Given the description of an element on the screen output the (x, y) to click on. 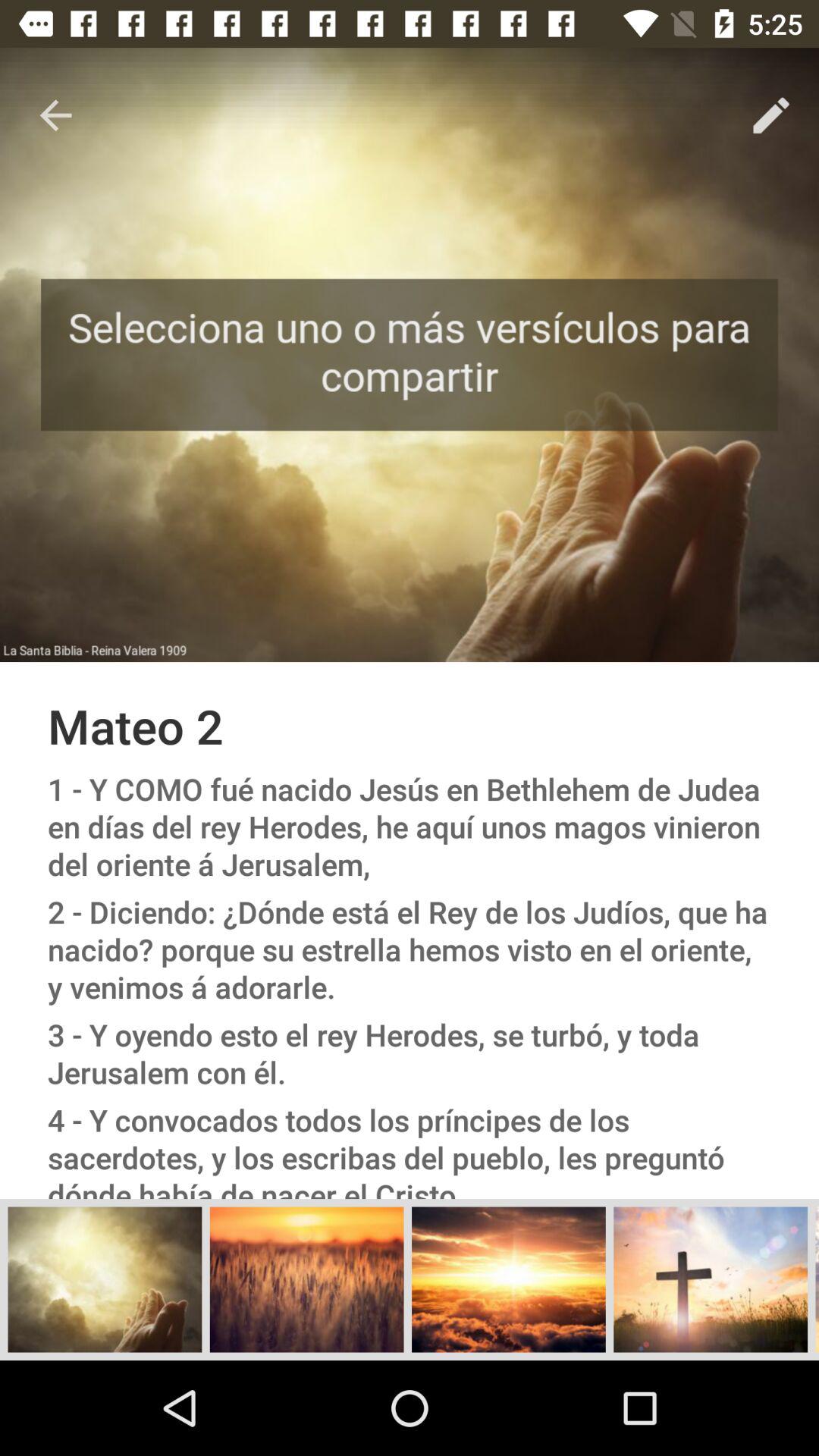
swipe to the mateo 2 item (409, 725)
